Given the description of an element on the screen output the (x, y) to click on. 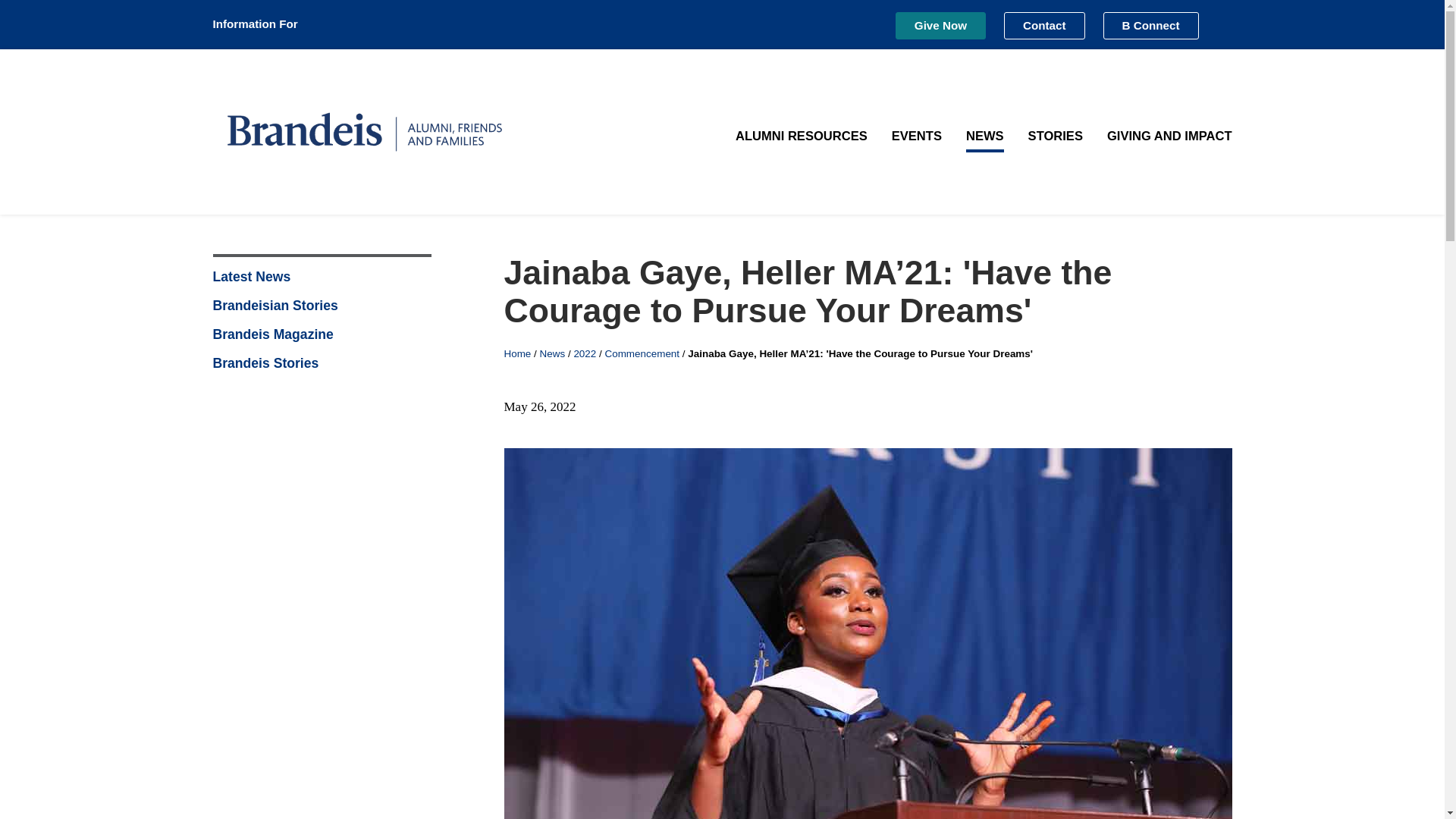
Give Now (940, 25)
EVENTS (916, 135)
ALUMNI RESOURCES (801, 135)
Contact (1044, 25)
B Connect (1150, 25)
Information For (265, 23)
